Given the description of an element on the screen output the (x, y) to click on. 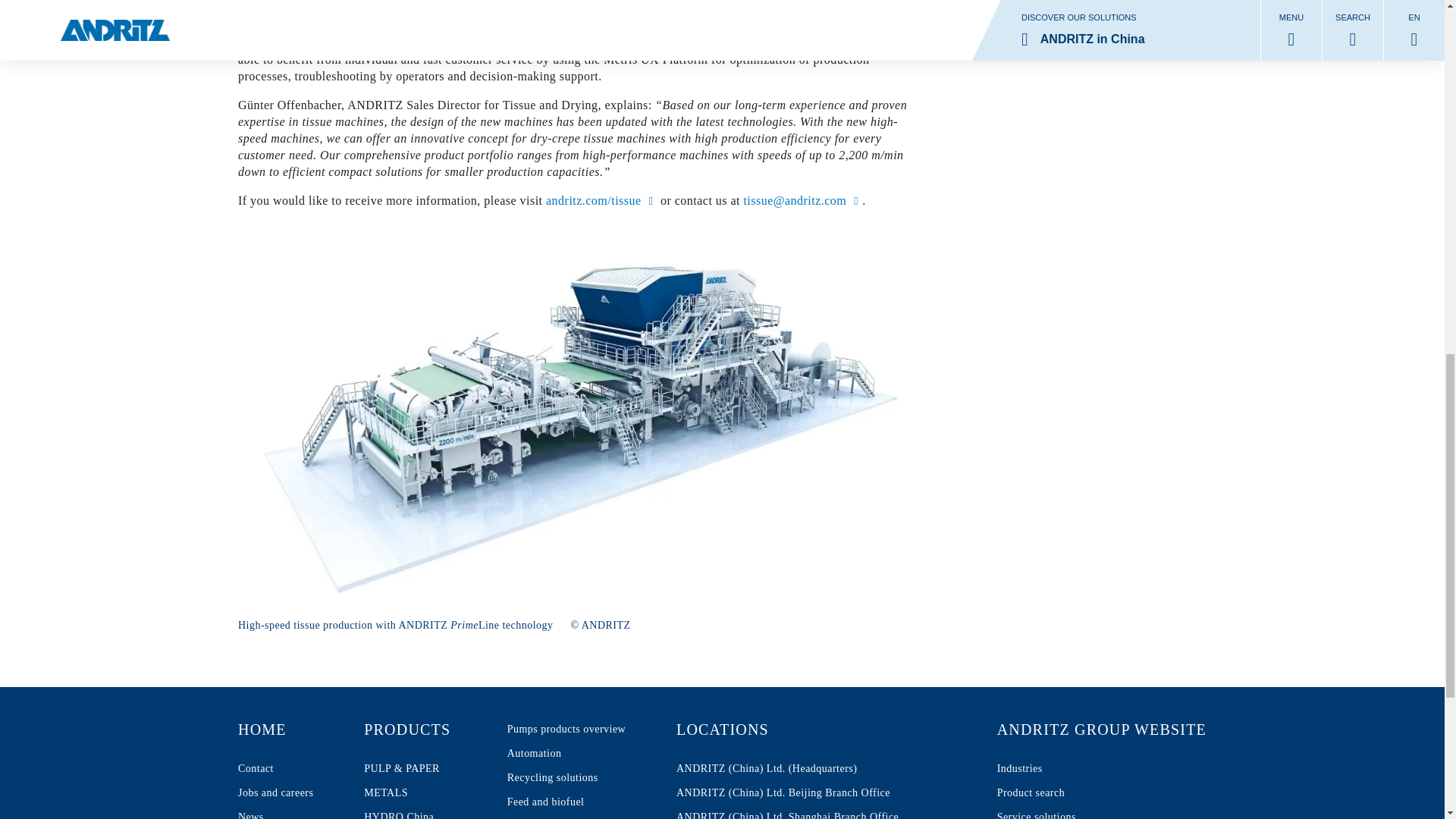
Automation (566, 753)
HYDRO China (422, 793)
Jobs and careers (422, 812)
METALS (275, 729)
Pumps products overview (275, 793)
News (422, 793)
cn-news-picture20210610-high-speed-tissue (422, 729)
PRODUCTS (275, 812)
Contact (566, 729)
